Given the description of an element on the screen output the (x, y) to click on. 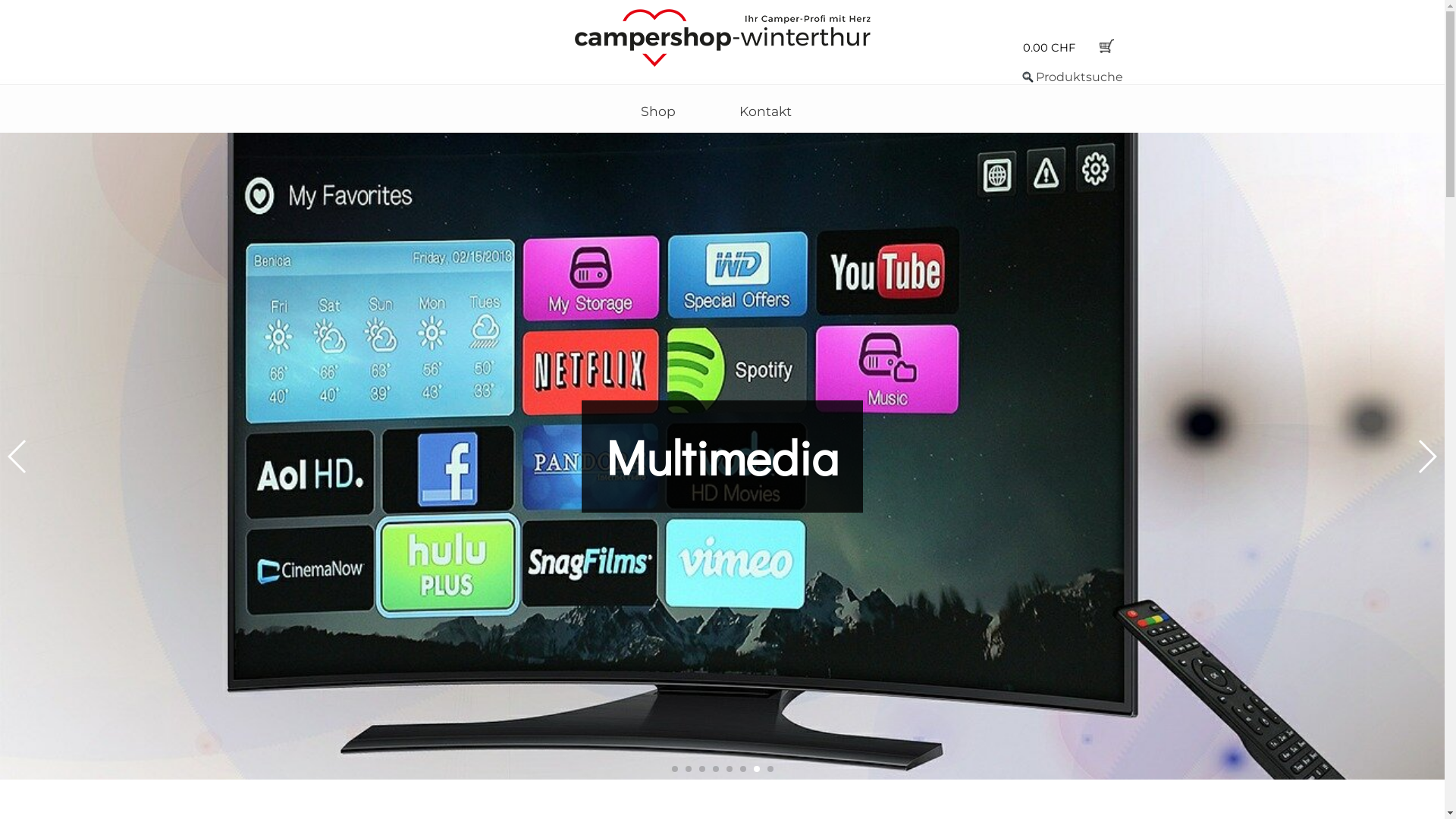
campershop-winterthur.ch Element type: hover (722, 37)
Shop Element type: text (658, 110)
Kontakt Element type: text (765, 110)
